Given the description of an element on the screen output the (x, y) to click on. 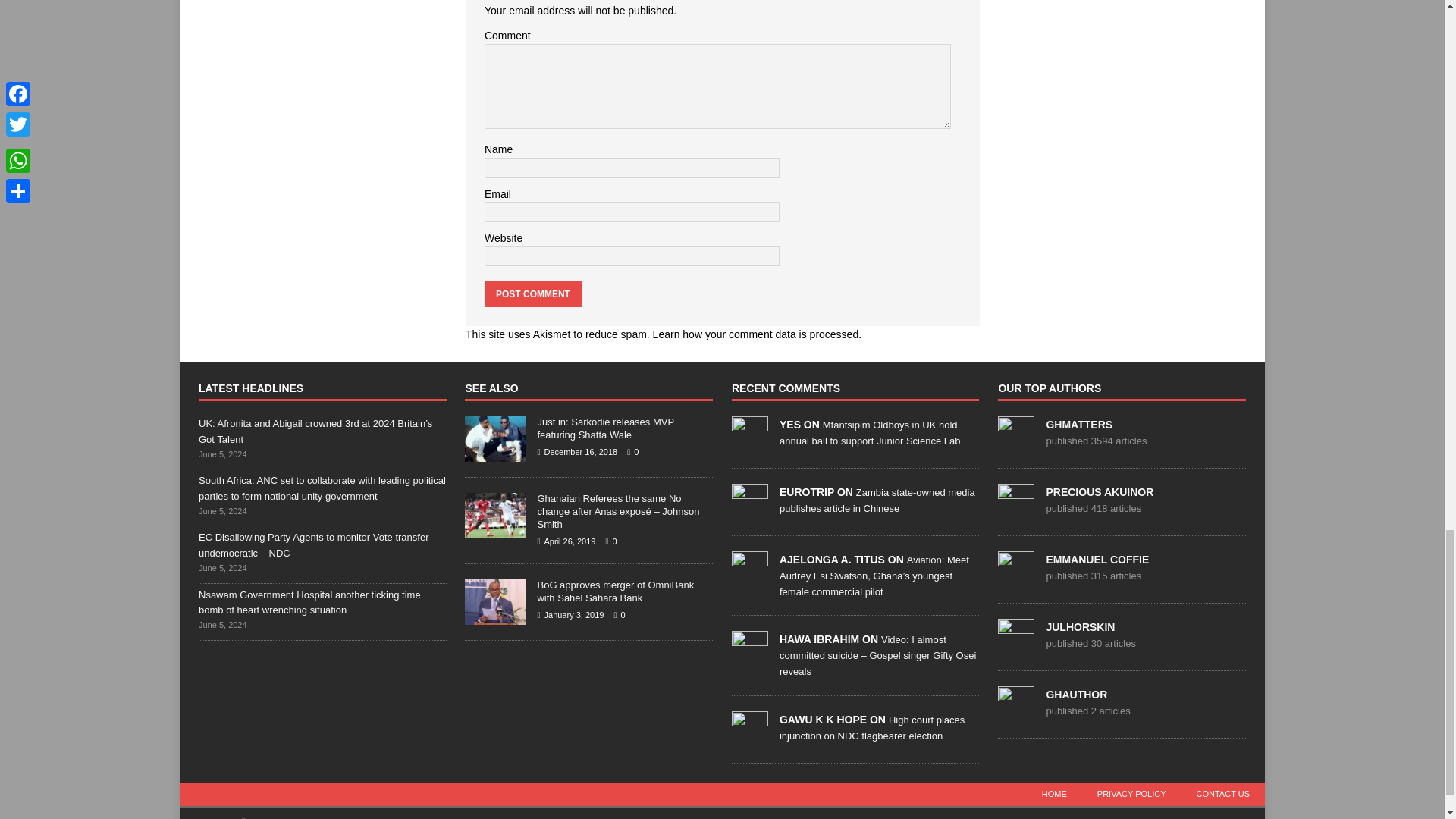
Post Comment (532, 294)
